Given the description of an element on the screen output the (x, y) to click on. 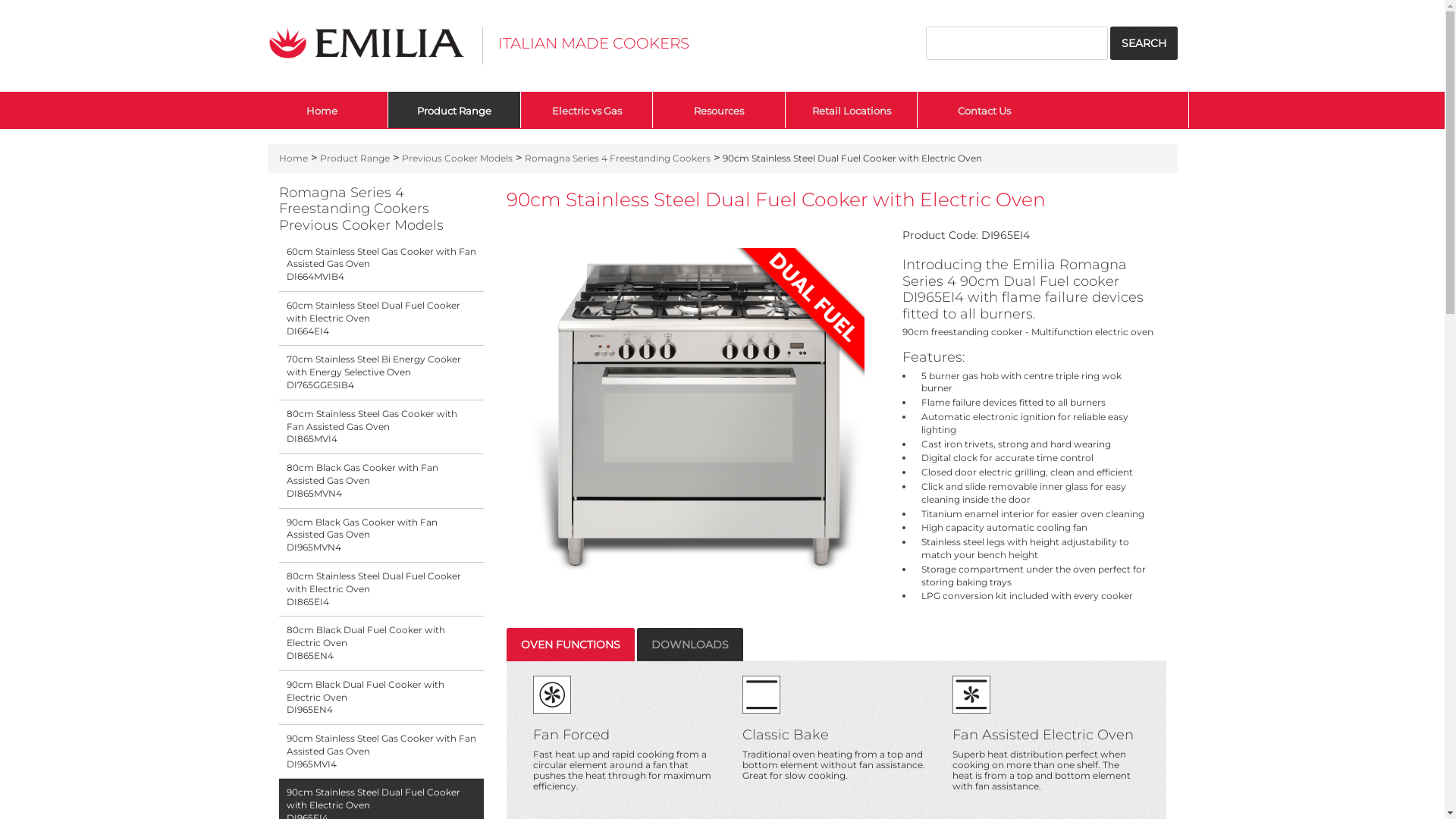
Resources Element type: text (719, 109)
90cm Black Gas Cooker with Fan Assisted Gas Oven
DI965MVN4 Element type: text (381, 535)
OVEN FUNCTIONS Element type: text (570, 644)
DOWNLOADS Element type: text (690, 644)
80cm Black Gas Cooker with Fan Assisted Gas Oven
DI865MVN4 Element type: text (381, 481)
Product Range Element type: text (354, 157)
90cm Black Dual Fuel Cooker with Electric Oven
DI965EN4 Element type: text (381, 697)
Home Element type: text (293, 157)
Contact Us Element type: text (983, 109)
SEARCH Element type: text (1143, 42)
80cm Black Dual Fuel Cooker with Electric Oven
DI865EN4 Element type: text (381, 643)
Product Range Element type: text (454, 109)
Retail Locations Element type: text (851, 109)
Electric vs Gas Element type: text (587, 109)
Home Element type: text (321, 109)
Previous Cooker Models Element type: text (456, 157)
Romagna Series 4 Freestanding Cookers Element type: text (617, 157)
